Given the description of an element on the screen output the (x, y) to click on. 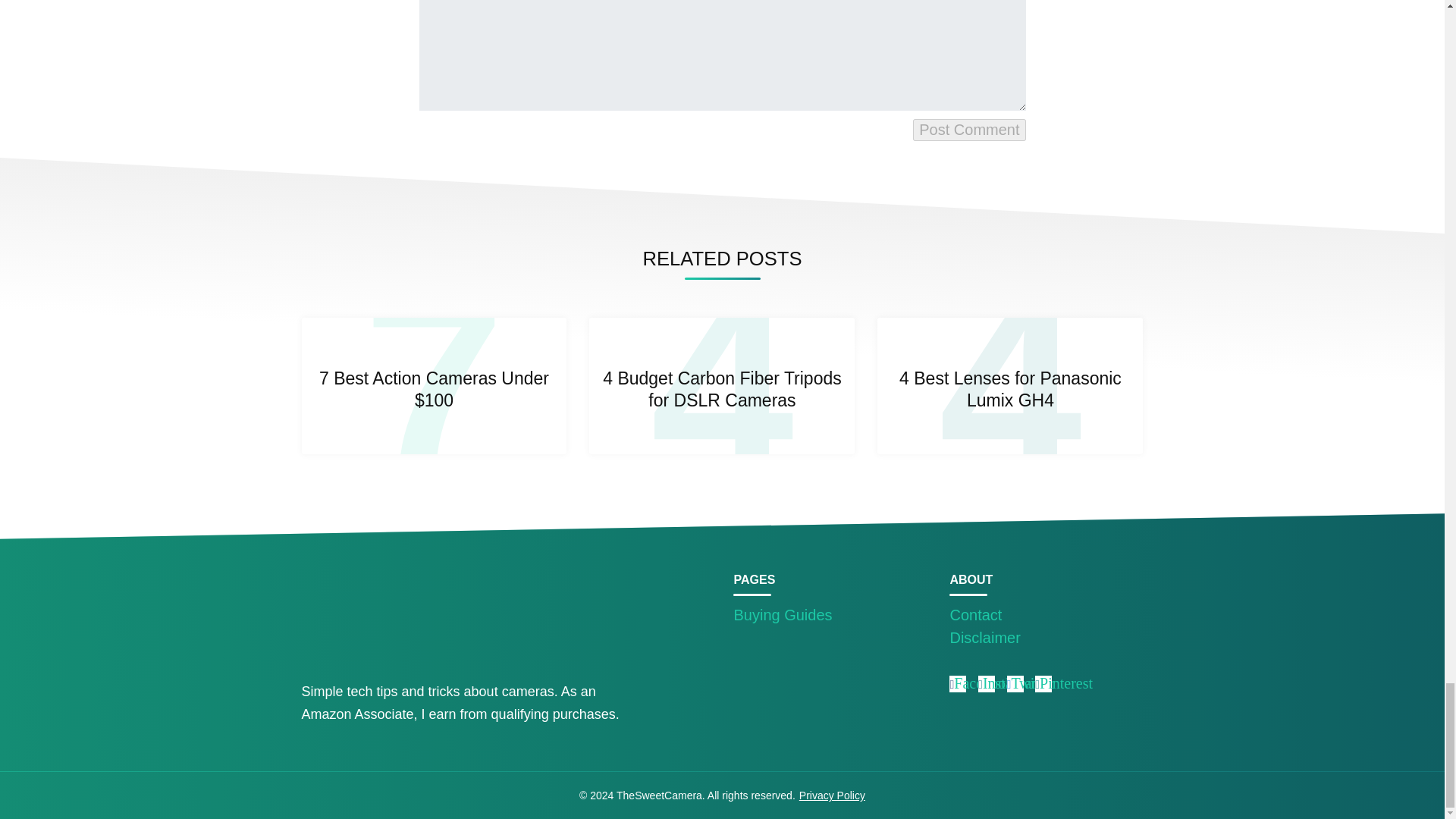
Disclaimer (984, 637)
Post Comment (968, 129)
Buying Guides (782, 614)
Facebook (983, 682)
Contact (975, 614)
Post Comment (968, 129)
